Given the description of an element on the screen output the (x, y) to click on. 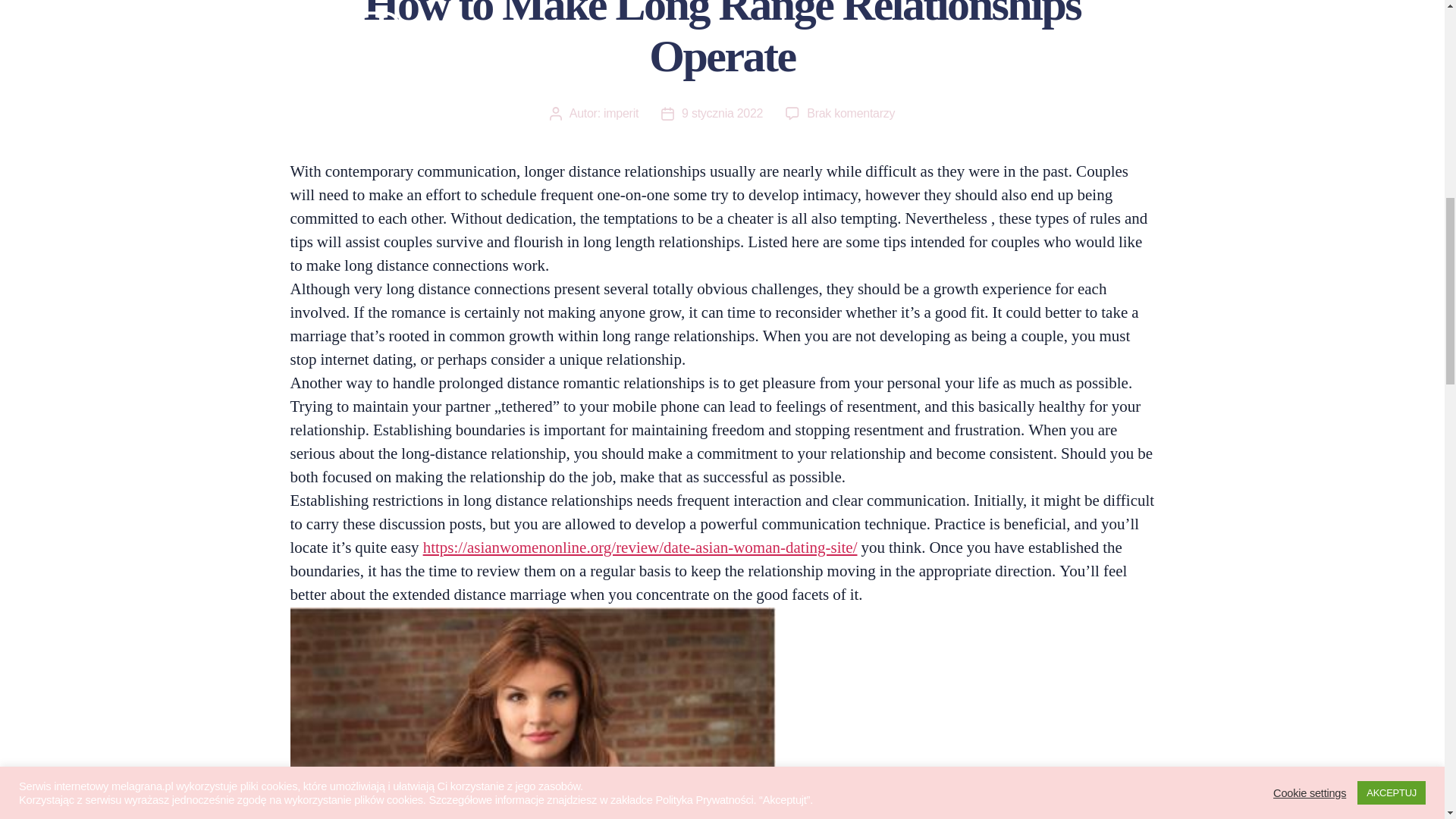
9 stycznia 2022 (721, 113)
imperit (621, 113)
